Given the description of an element on the screen output the (x, y) to click on. 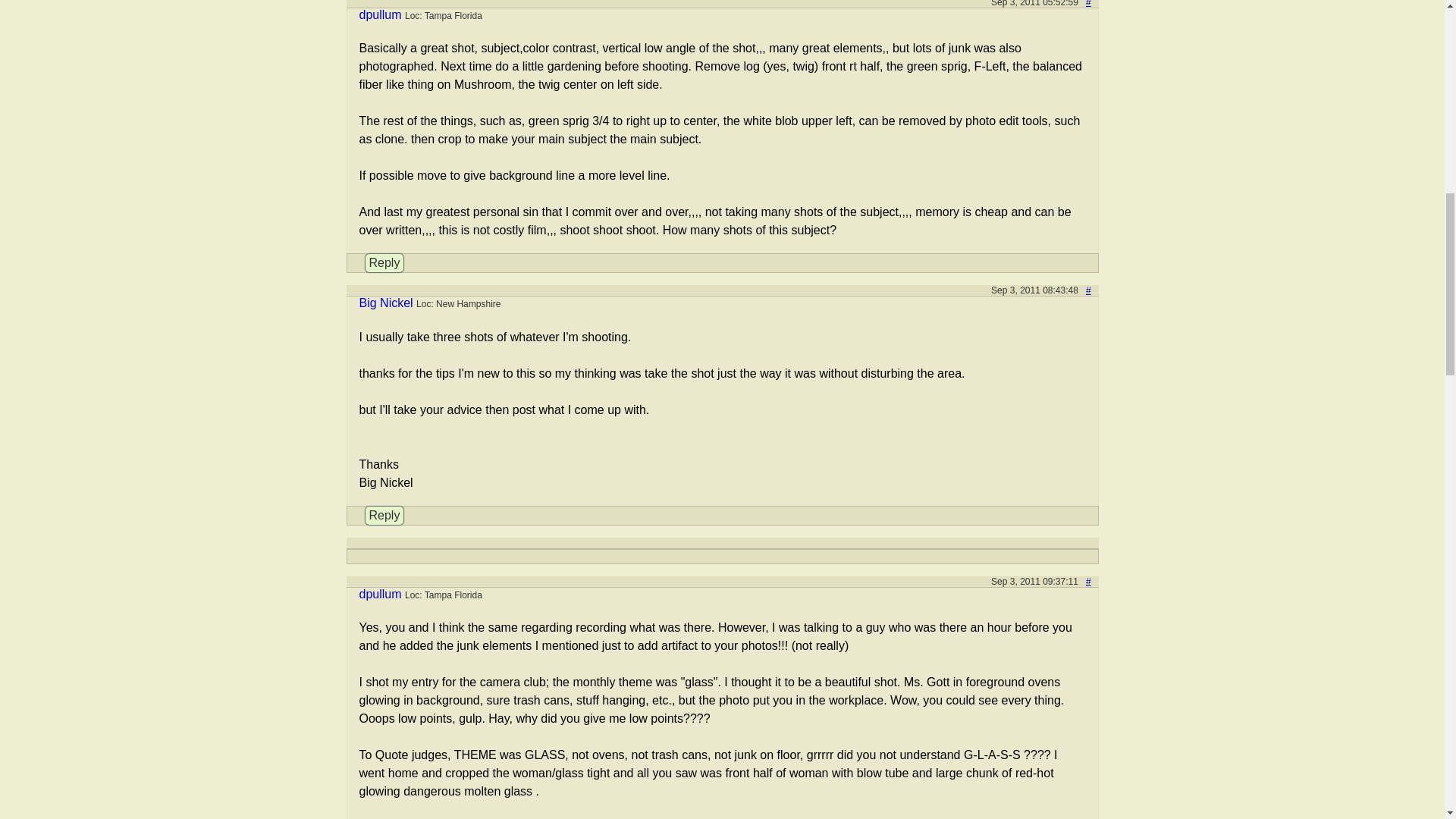
dpullum (380, 594)
dpullum (380, 14)
Reply (384, 515)
Reply (384, 262)
Big Nickel (386, 302)
